Given the description of an element on the screen output the (x, y) to click on. 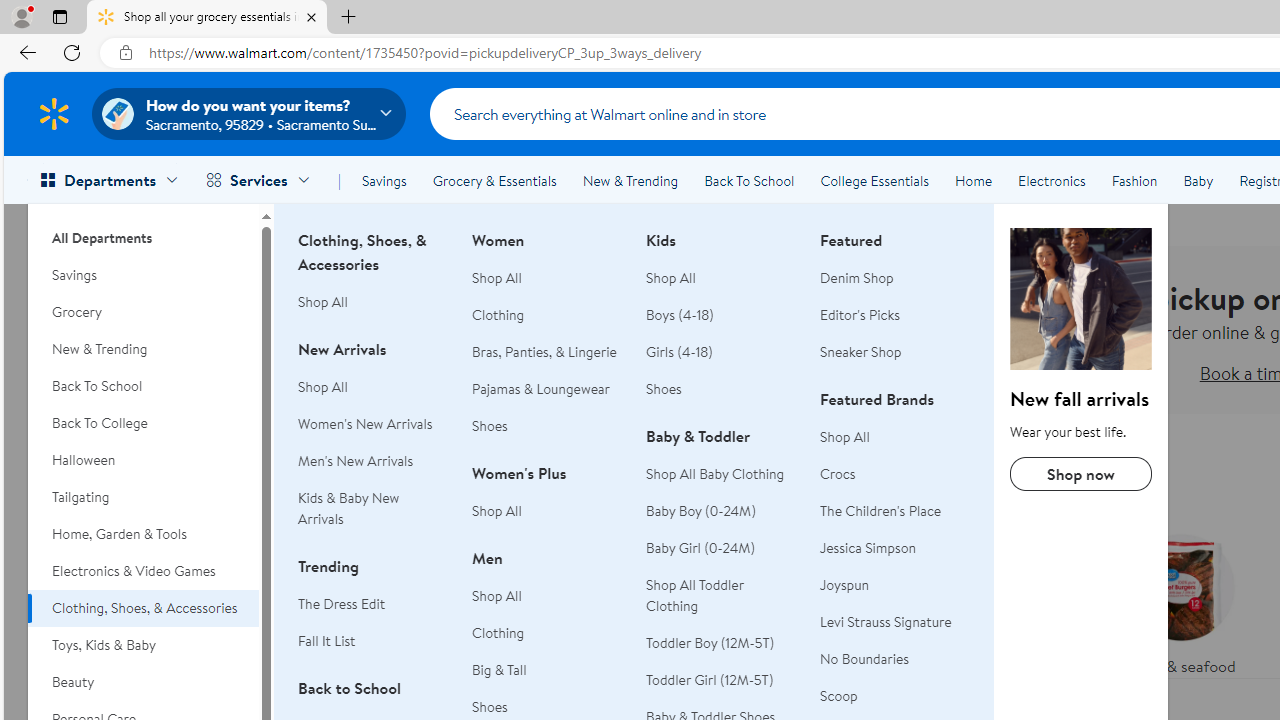
New & Trending (143, 349)
Shop All (845, 436)
Beauty (143, 682)
All Departments (143, 230)
Shop all your grocery essentials in one place! - Walmart.com (207, 17)
Women's New Arrivals (373, 423)
Toddler Boy (12M-5T) (710, 642)
Grocery (143, 312)
The Dress Edit (341, 604)
Clothing (547, 632)
